Given the description of an element on the screen output the (x, y) to click on. 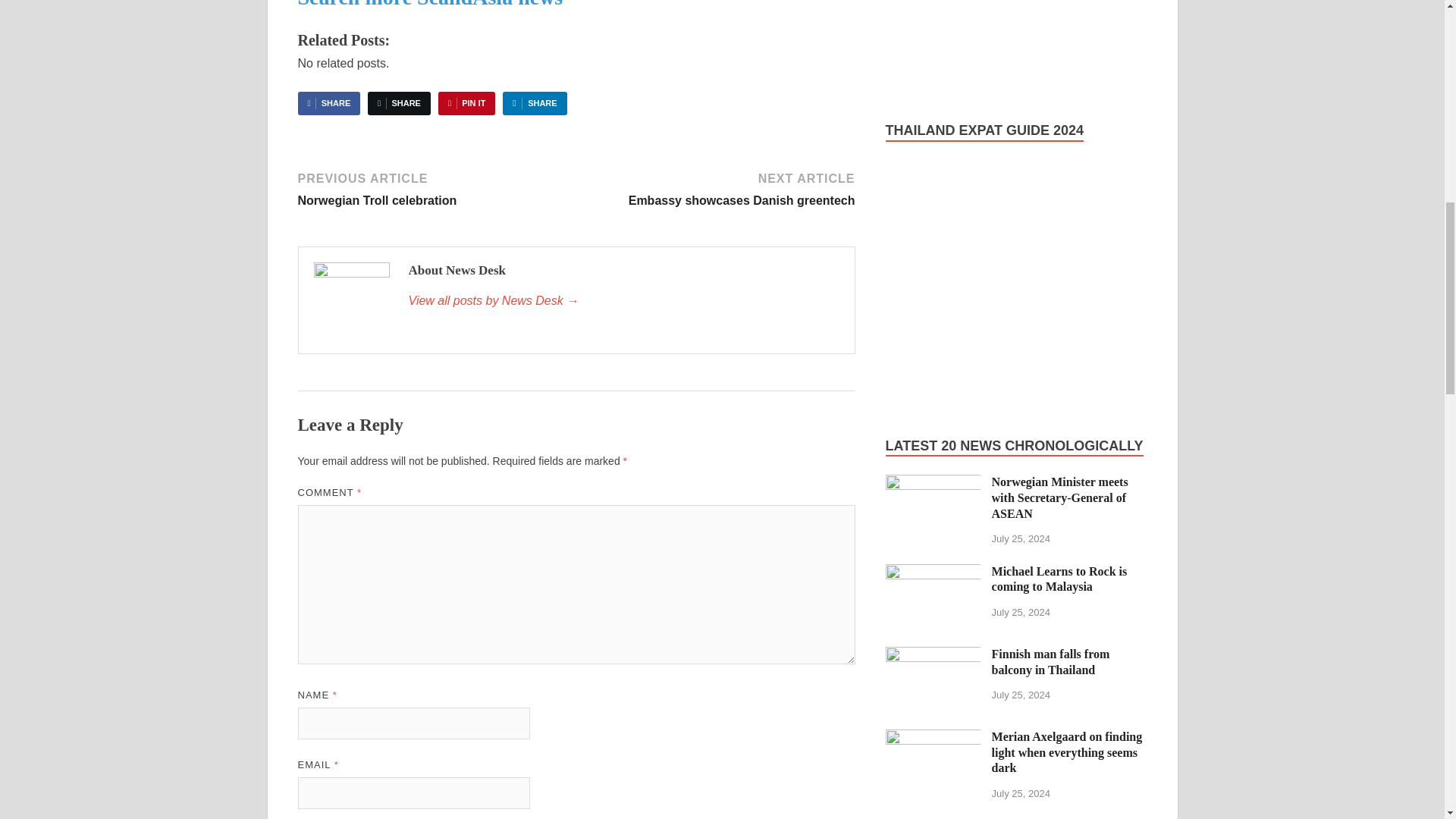
Merian Axelgaard on finding light when everything seems dark (932, 738)
Finnish man falls from balcony in Thailand (932, 655)
News Desk (622, 300)
Norwegian Minister meets with Secretary-General of ASEAN (932, 482)
Michael Learns to Rock is coming to Malaysia (932, 572)
